Given the description of an element on the screen output the (x, y) to click on. 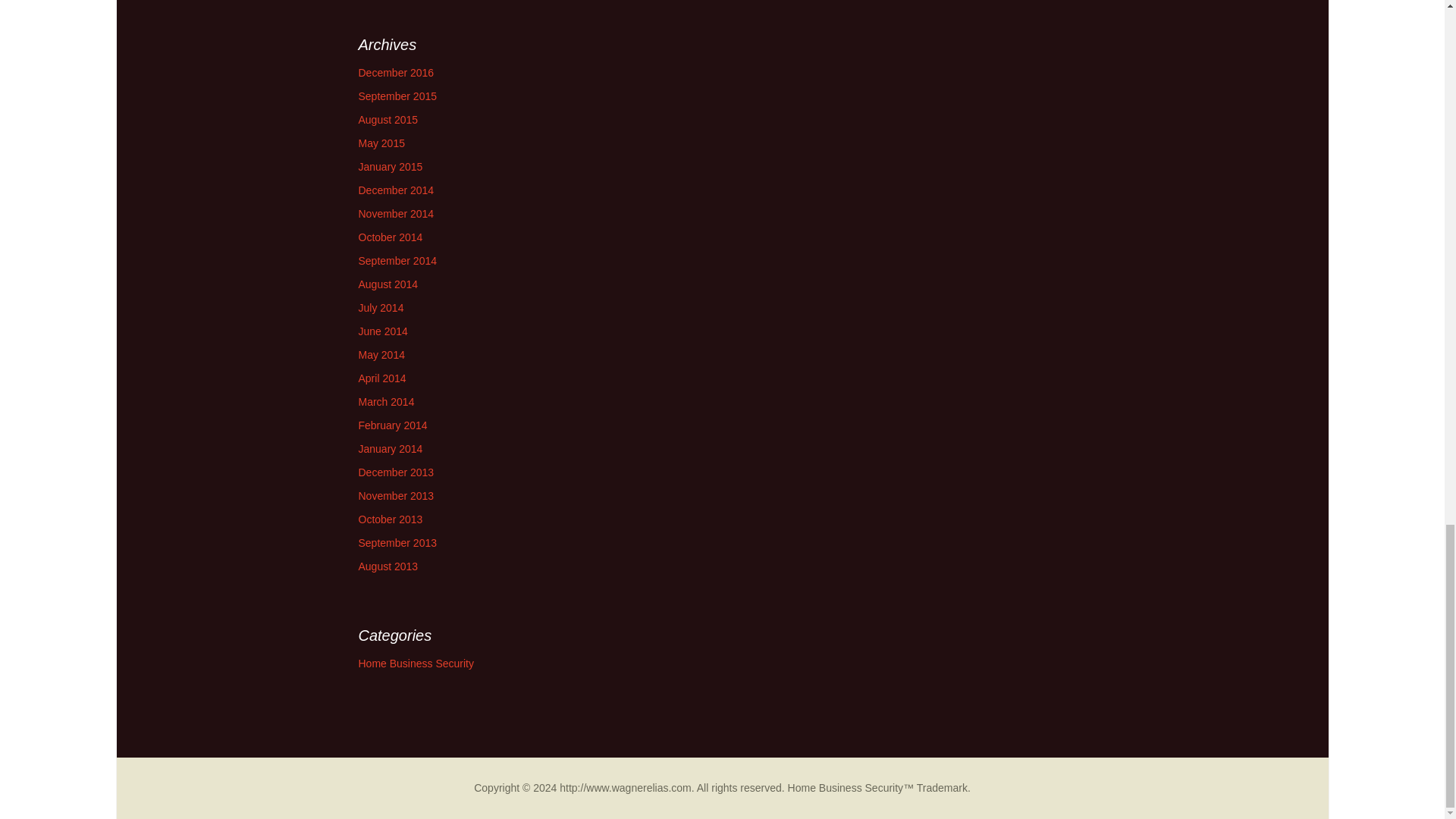
June 2014 (382, 331)
January 2014 (390, 449)
April 2014 (382, 378)
Home Business Security (416, 663)
August 2015 (387, 119)
December 2014 (395, 190)
May 2014 (381, 354)
July 2014 (380, 307)
September 2013 (397, 542)
January 2015 (390, 166)
October 2013 (390, 519)
November 2013 (395, 495)
December 2016 (395, 72)
March 2014 (385, 401)
August 2014 (387, 284)
